Given the description of an element on the screen output the (x, y) to click on. 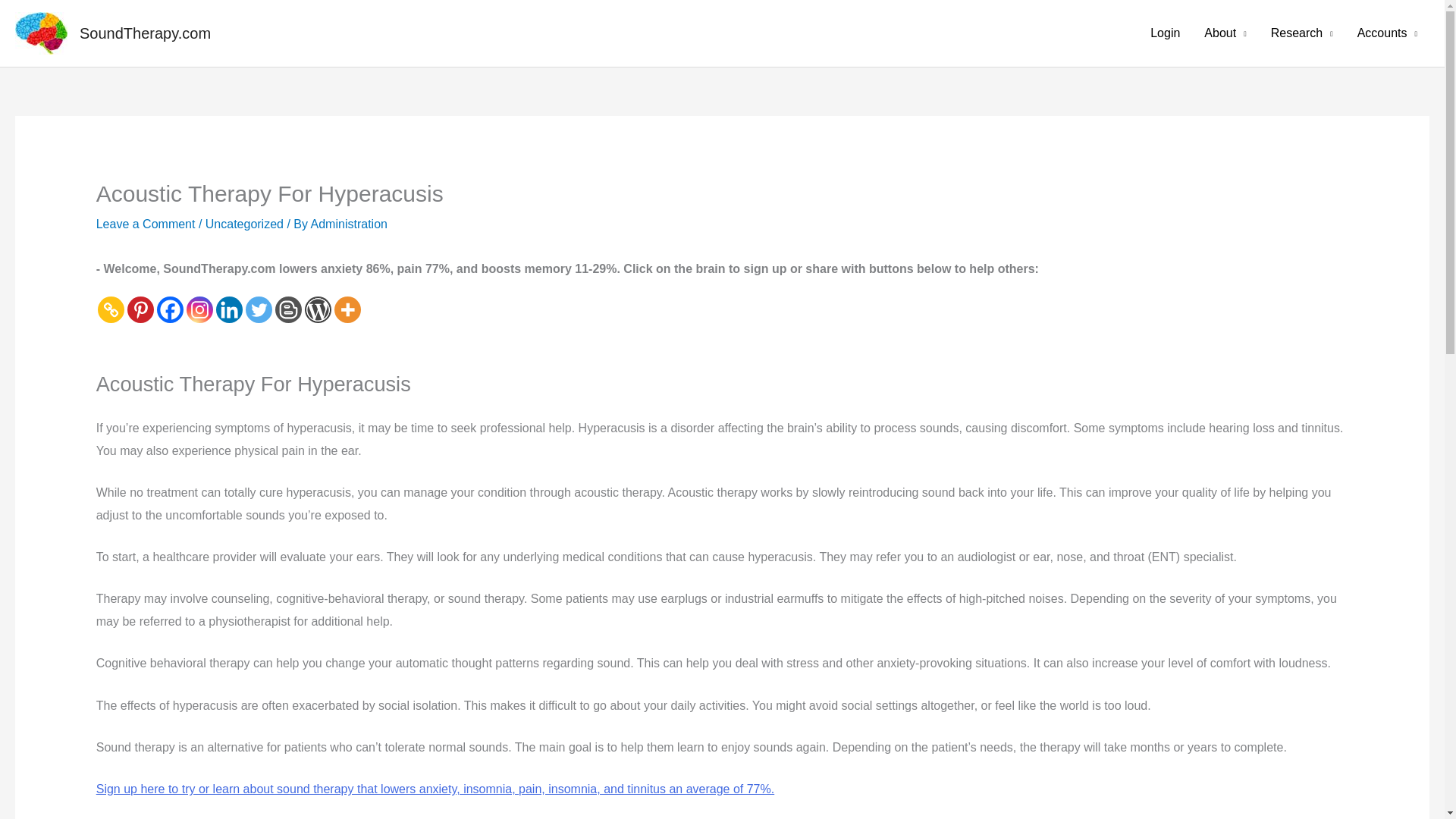
View all posts by Administration (349, 223)
Twitter (259, 309)
Research (1302, 33)
Accounts (1387, 33)
Pinterest (141, 309)
WordPress (317, 309)
More (347, 309)
SoundTherapy.com (145, 33)
Facebook (170, 309)
Uncategorized (244, 223)
